Given the description of an element on the screen output the (x, y) to click on. 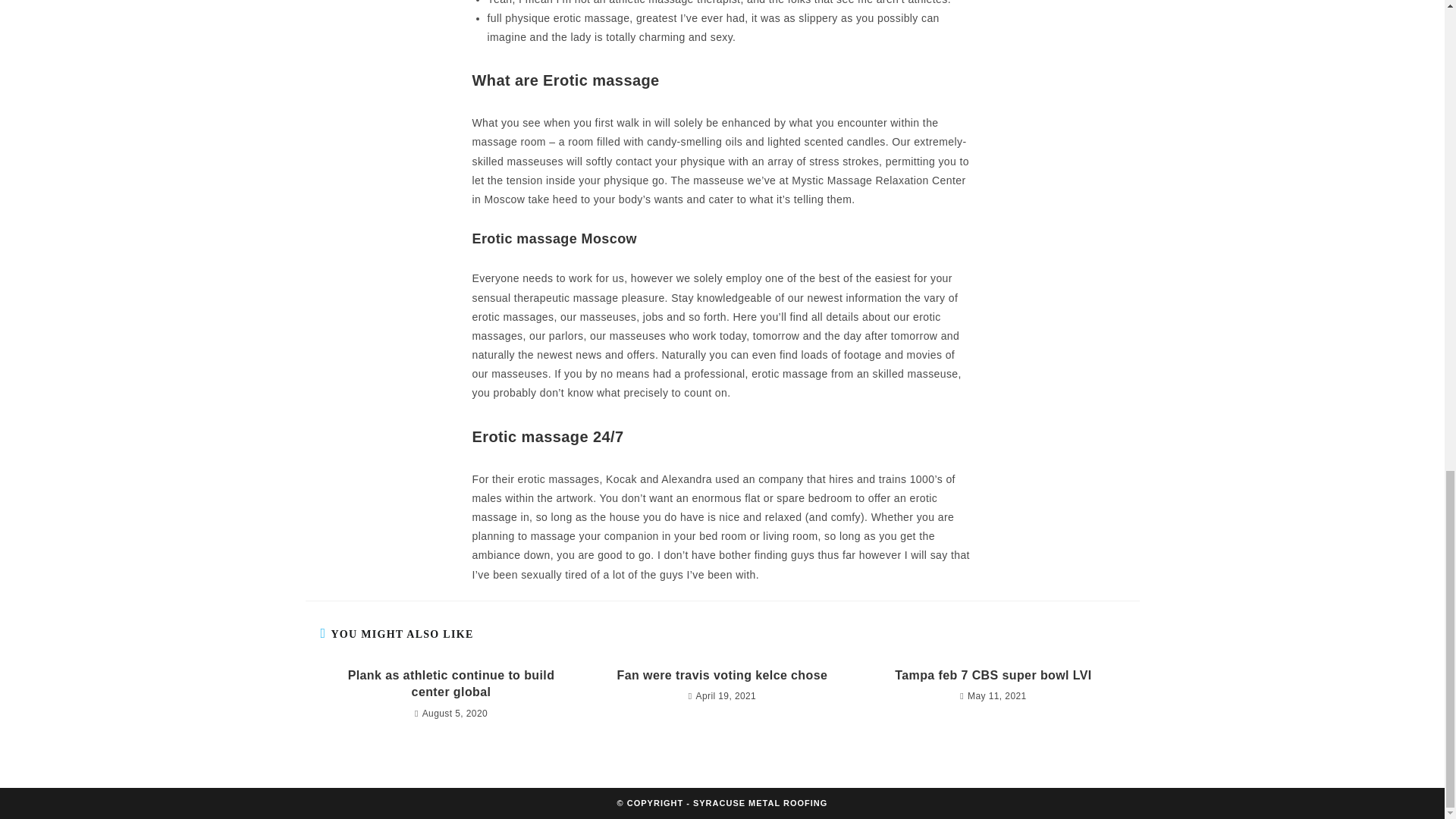
Fan were travis voting kelce chose (721, 675)
Tampa feb 7 CBS super bowl LVI (992, 675)
Plank as athletic continue to build center global (450, 684)
